Given the description of an element on the screen output the (x, y) to click on. 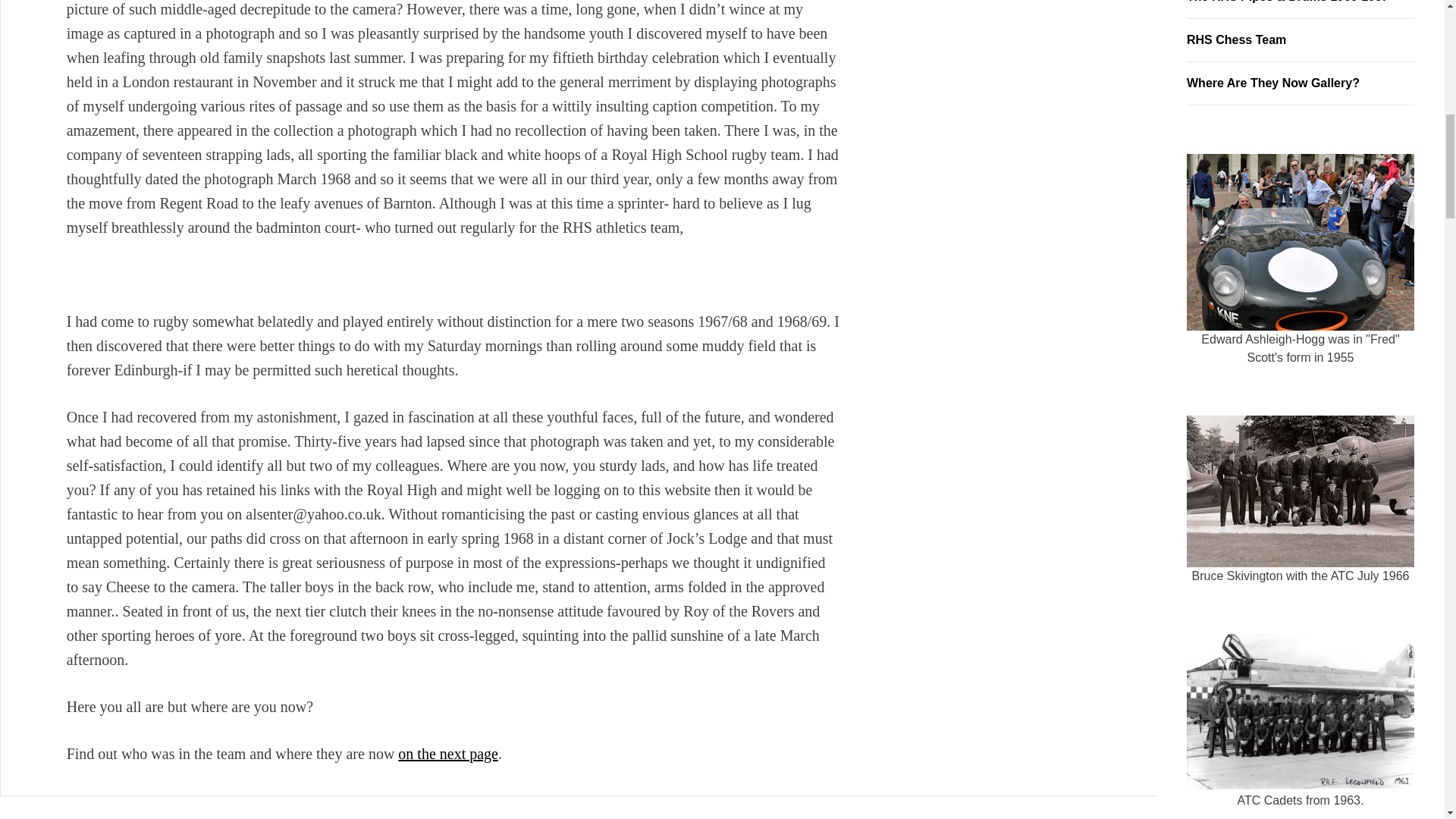
Link to Fred Scott's form 1955 (1299, 241)
